Given the description of an element on the screen output the (x, y) to click on. 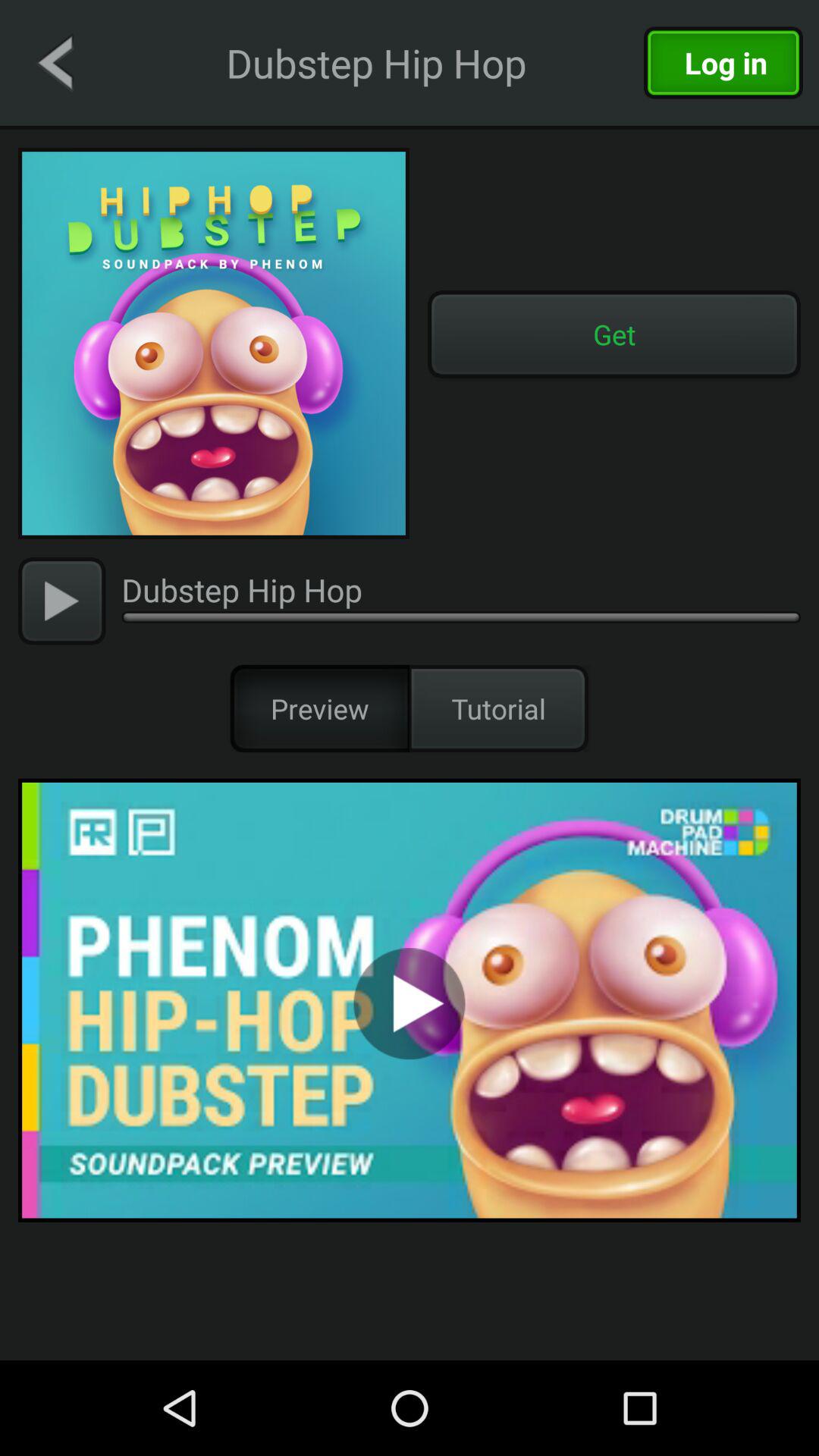
select icon next to the dubstep hip hop app (61, 600)
